Given the description of an element on the screen output the (x, y) to click on. 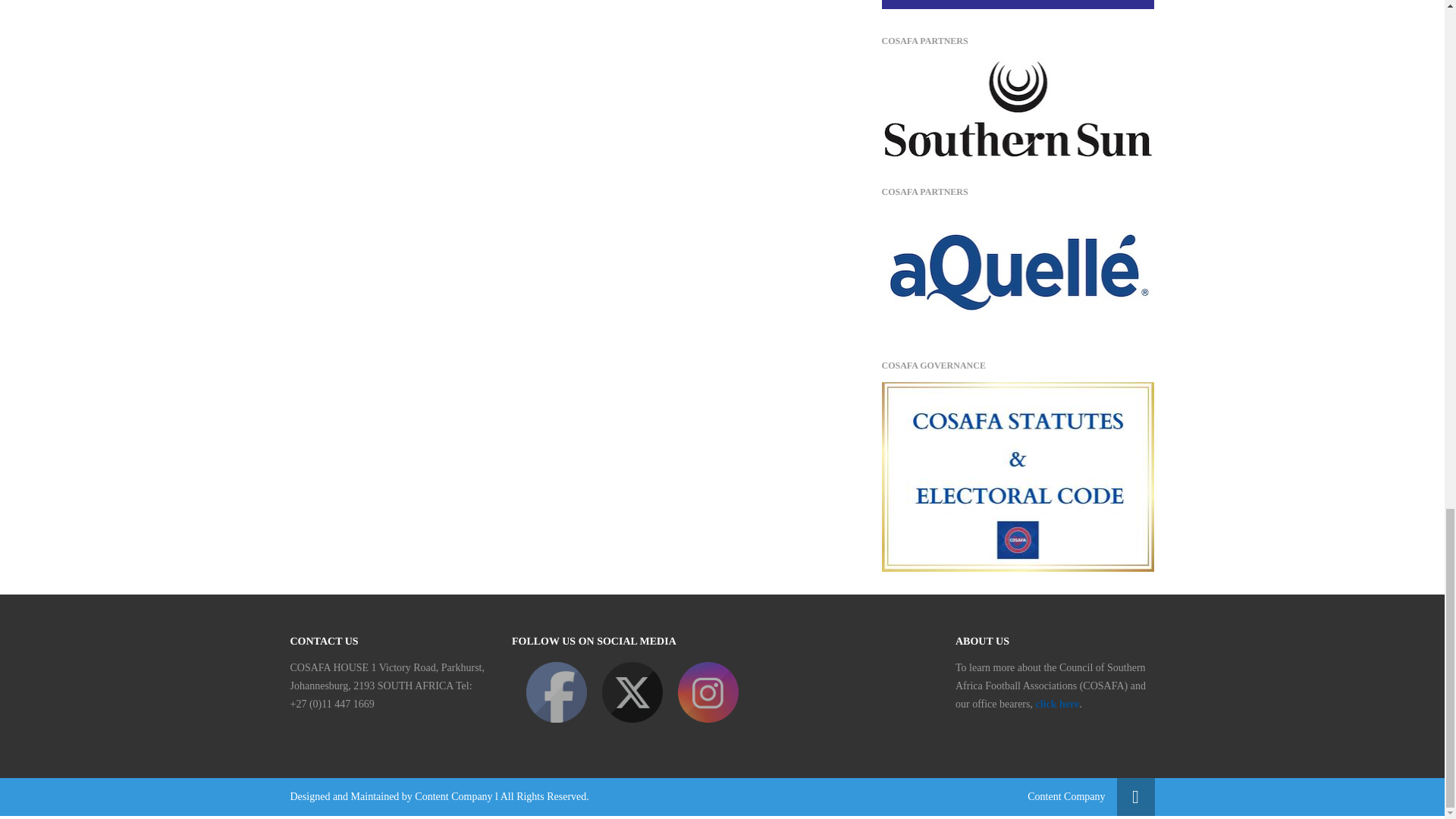
Facebook (555, 691)
Instagram (708, 691)
Twitter (632, 691)
